Given the description of an element on the screen output the (x, y) to click on. 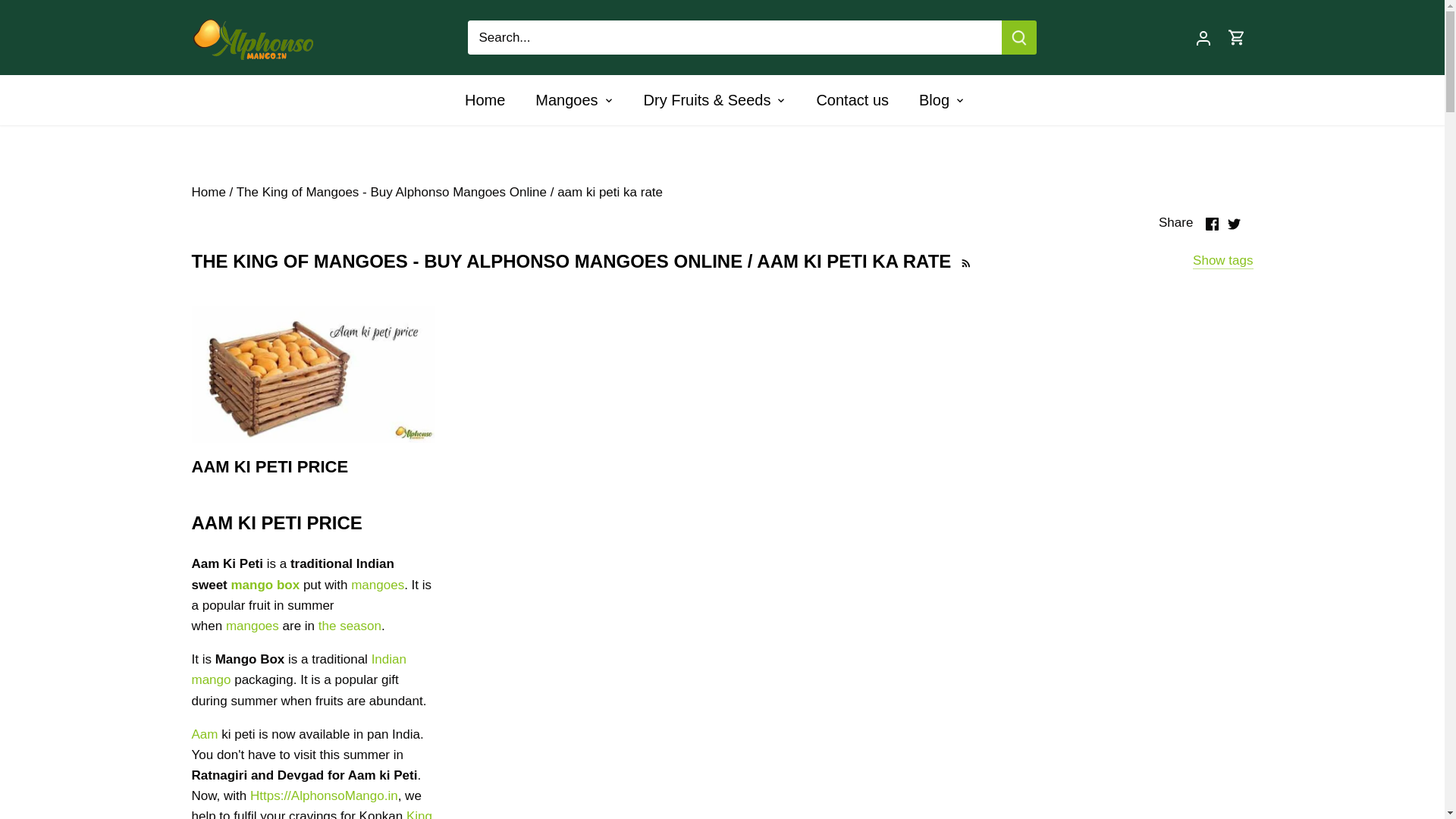
Show tags (1222, 261)
aam ki peti ka rate (609, 192)
Contact us (852, 100)
Facebook (1211, 223)
Home (207, 192)
Twitter (1233, 223)
Blog (933, 100)
Home (491, 100)
The King of Mangoes - Buy Alphonso Mangoes Online (391, 192)
Mangoes (565, 100)
